Given the description of an element on the screen output the (x, y) to click on. 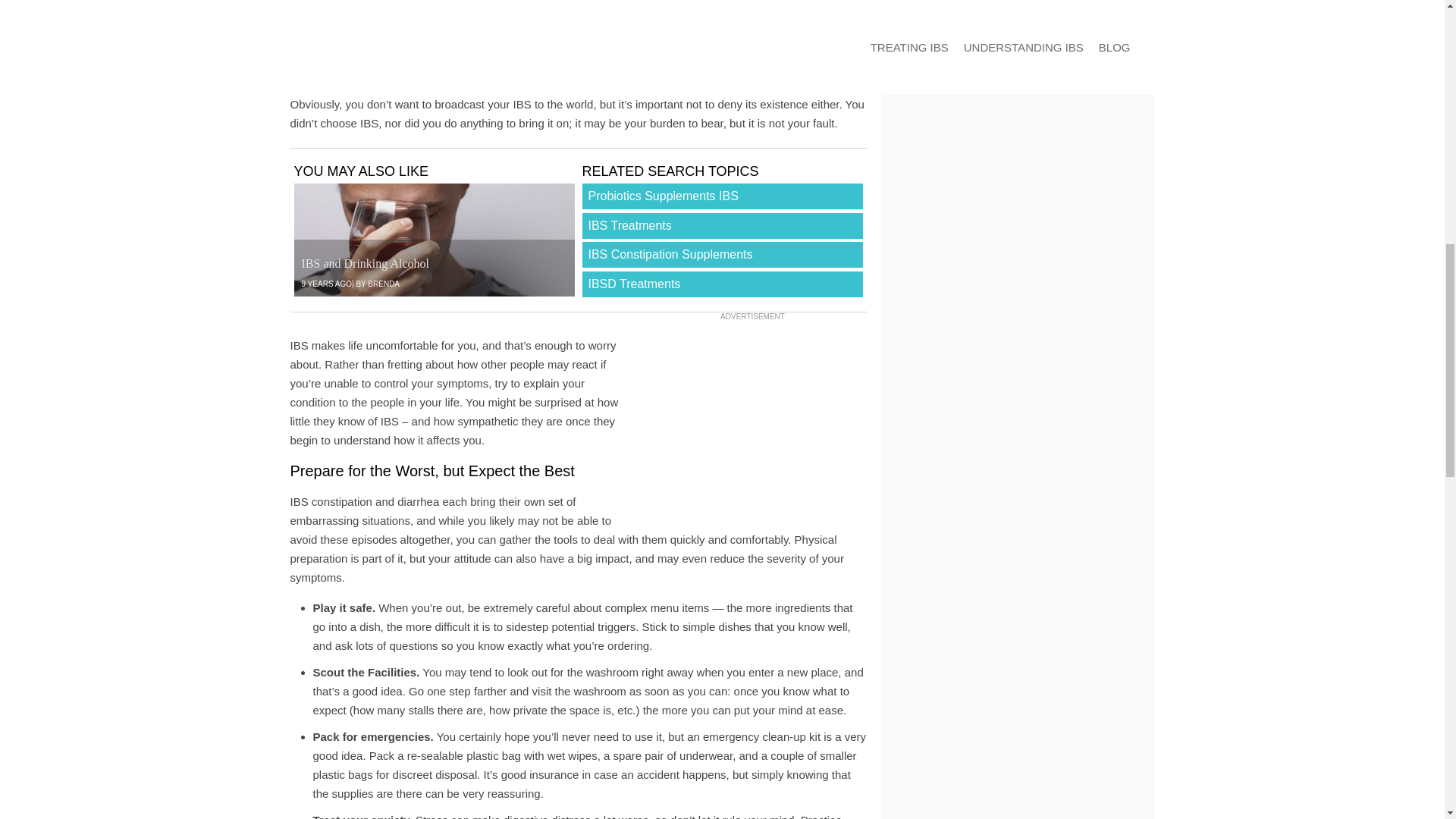
IBS Constipation Supplements (722, 254)
Probiotics Supplements IBS (722, 196)
IBS Treatments (722, 225)
BRENDA (383, 284)
IBS and Drinking Alcohol (434, 239)
IBSD Treatments (722, 284)
IBS and Drinking Alcohol (365, 263)
